Given the description of an element on the screen output the (x, y) to click on. 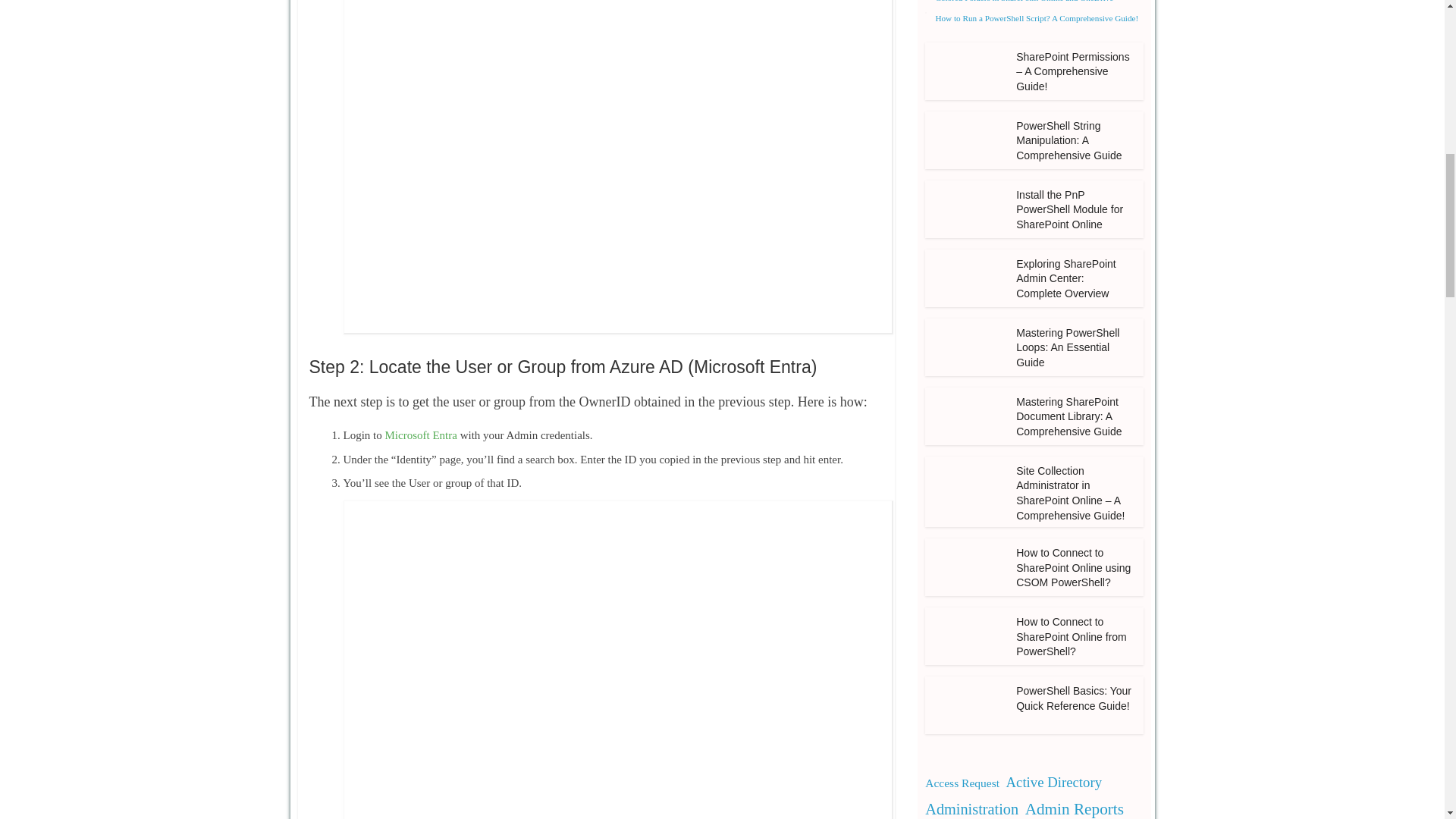
Mastering SharePoint Document Library: A Comprehensive Guide (966, 416)
Mastering SharePoint Document Library: A Comprehensive Guide (1068, 416)
Mastering PowerShell Loops: An Essential Guide (966, 346)
Install the PnP PowerShell Module for SharePoint Online (966, 188)
PowerShell String Manipulation: A Comprehensive Guide (966, 139)
Exploring SharePoint Admin Center: Complete Overview (1066, 278)
Mastering PowerShell Loops: An Essential Guide (1067, 347)
Mastering PowerShell Loops: An Essential Guide (966, 326)
How to Connect to SharePoint Online using CSOM PowerShell? (966, 546)
How to Connect to SharePoint Online using CSOM PowerShell? (966, 567)
Install the PnP PowerShell Module for SharePoint Online (1069, 209)
PowerShell String Manipulation: A Comprehensive Guide (1068, 140)
Exploring SharePoint Admin Center: Complete Overview (966, 257)
Exploring SharePoint Admin Center: Complete Overview (966, 278)
Mastering SharePoint Document Library: A Comprehensive Guide (966, 396)
